Given the description of an element on the screen output the (x, y) to click on. 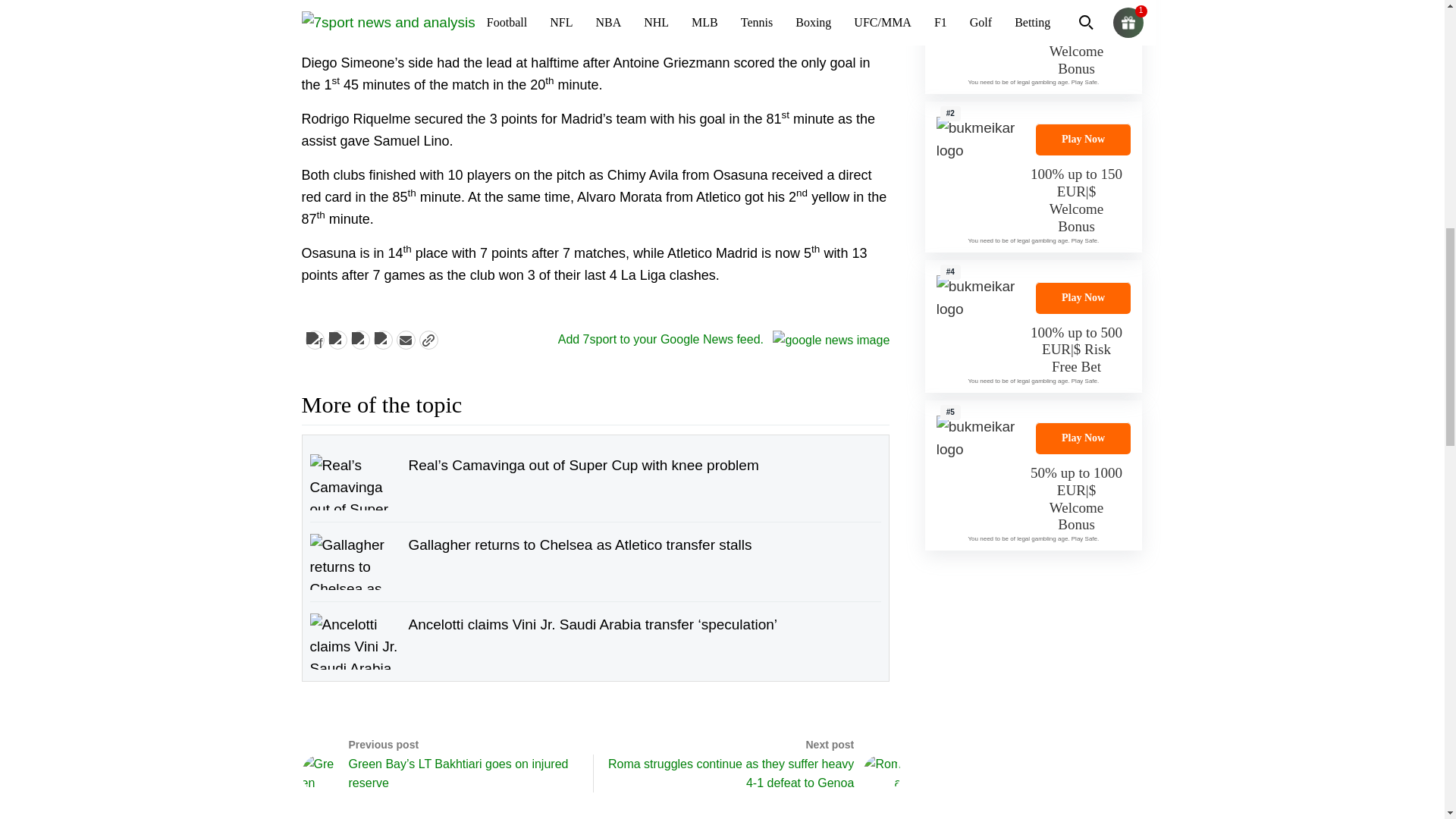
Gallagher returns to Chelsea as Atletico transfer stalls 3 (354, 561)
Atl. Madrid defeat Osasuna 2-0 at Estadio El Sadar 1 (365, 10)
